Given the description of an element on the screen output the (x, y) to click on. 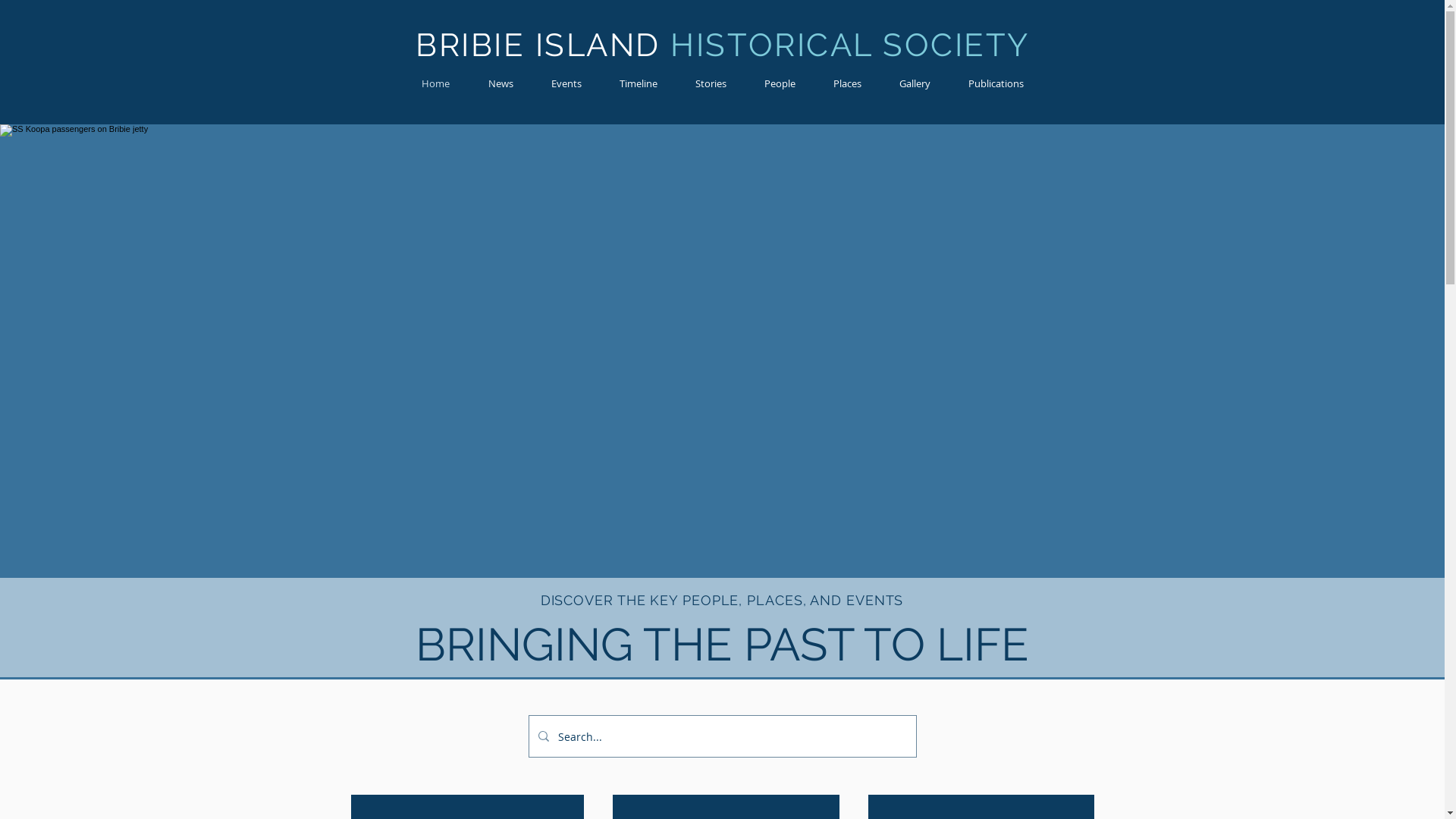
Stories Element type: text (710, 83)
Places Element type: text (847, 83)
Home Element type: text (434, 83)
Events Element type: text (566, 83)
Timeline Element type: text (638, 83)
Gallery Element type: text (913, 83)
News Element type: text (499, 83)
BRIBIE ISLAND HISTORICAL SOCIETY Element type: text (722, 44)
Publications Element type: text (995, 83)
People Element type: text (778, 83)
